Given the description of an element on the screen output the (x, y) to click on. 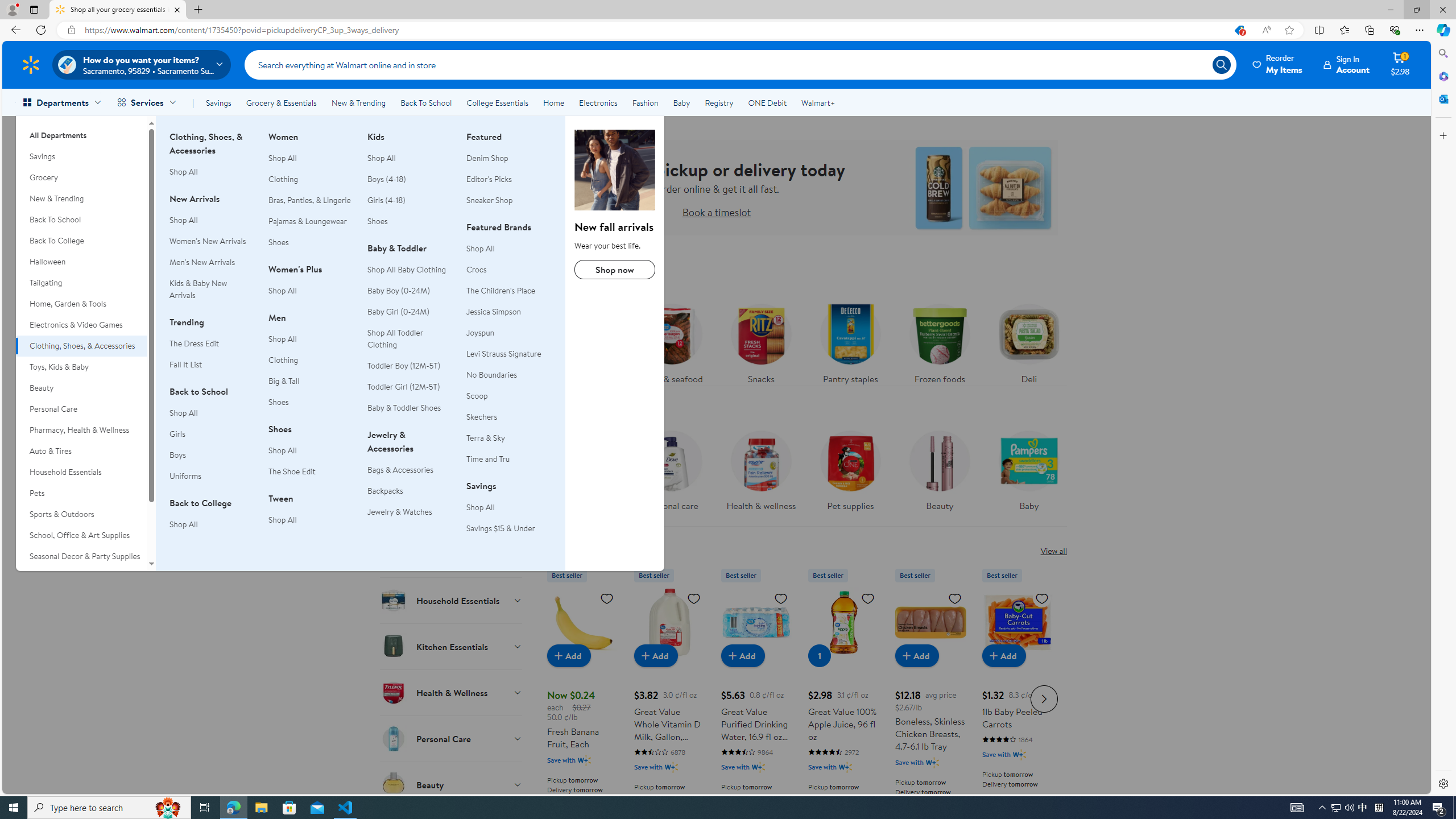
Grocery (81, 177)
Clothing, Shoes, & Accessories  (615, 169)
Boys (4-18) (386, 179)
Halloween (81, 261)
ShoesShop AllThe Shoe Edit (310, 456)
Meat & seafood (671, 340)
Home, Garden & Tools (81, 303)
New & Trending (81, 198)
Health & wellness (761, 473)
Women's New Arrivals (207, 240)
Baby & Toddler Shoes (403, 407)
Pantry & Snacks (451, 370)
